Given the description of an element on the screen output the (x, y) to click on. 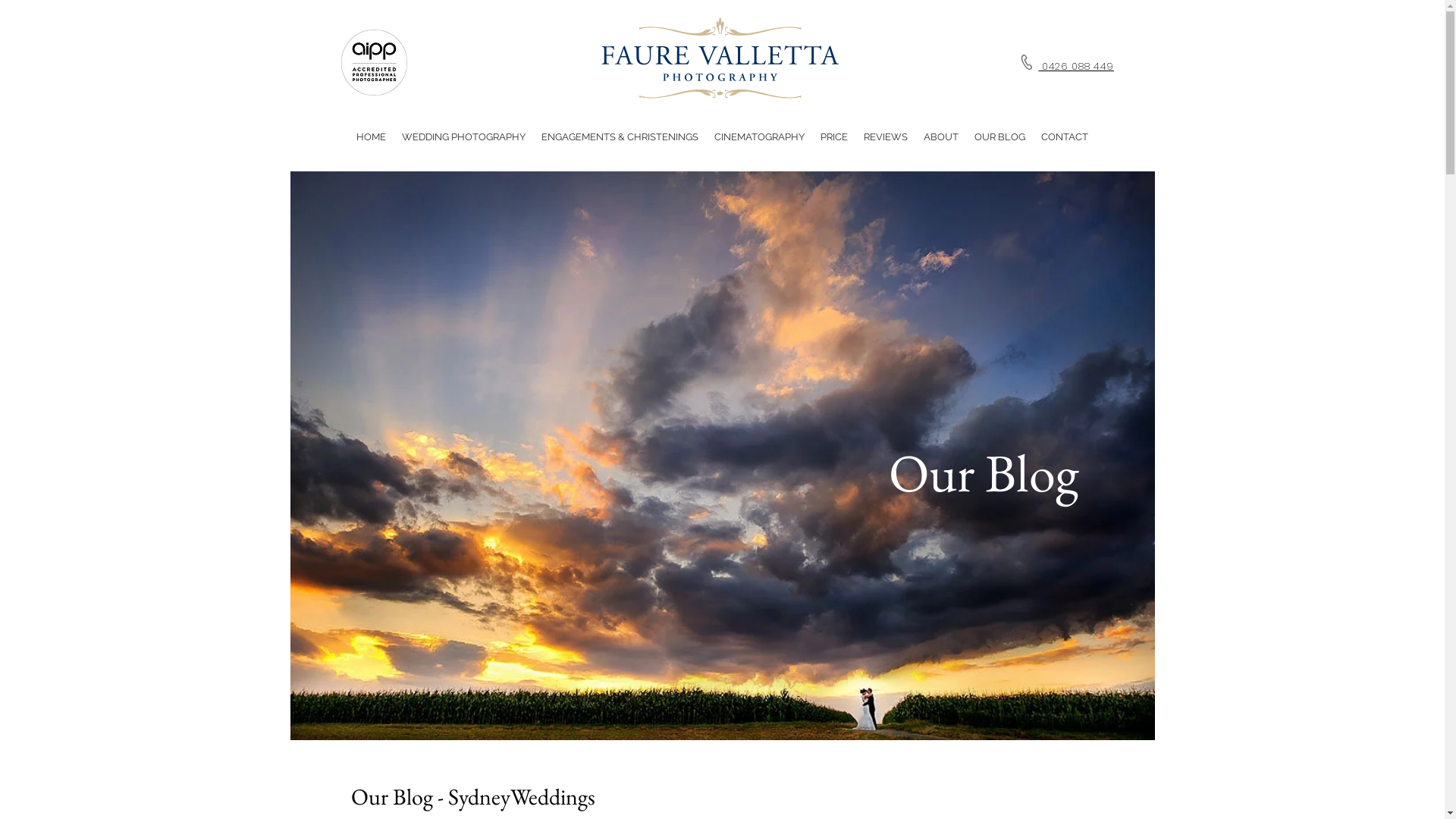
Telephone 0426 088 449 Element type: text (1064, 66)
WEDDING PHOTOGRAPHY Element type: text (463, 136)
PRICE Element type: text (833, 136)
ABOUT Element type: text (941, 136)
OUR BLOG Element type: text (999, 136)
CINEMATOGRAPHY Element type: text (759, 136)
ENGAGEMENTS & CHRISTENINGS Element type: text (619, 136)
CONTACT Element type: text (1063, 136)
REVIEWS Element type: text (884, 136)
HOME Element type: text (370, 136)
